Given the description of an element on the screen output the (x, y) to click on. 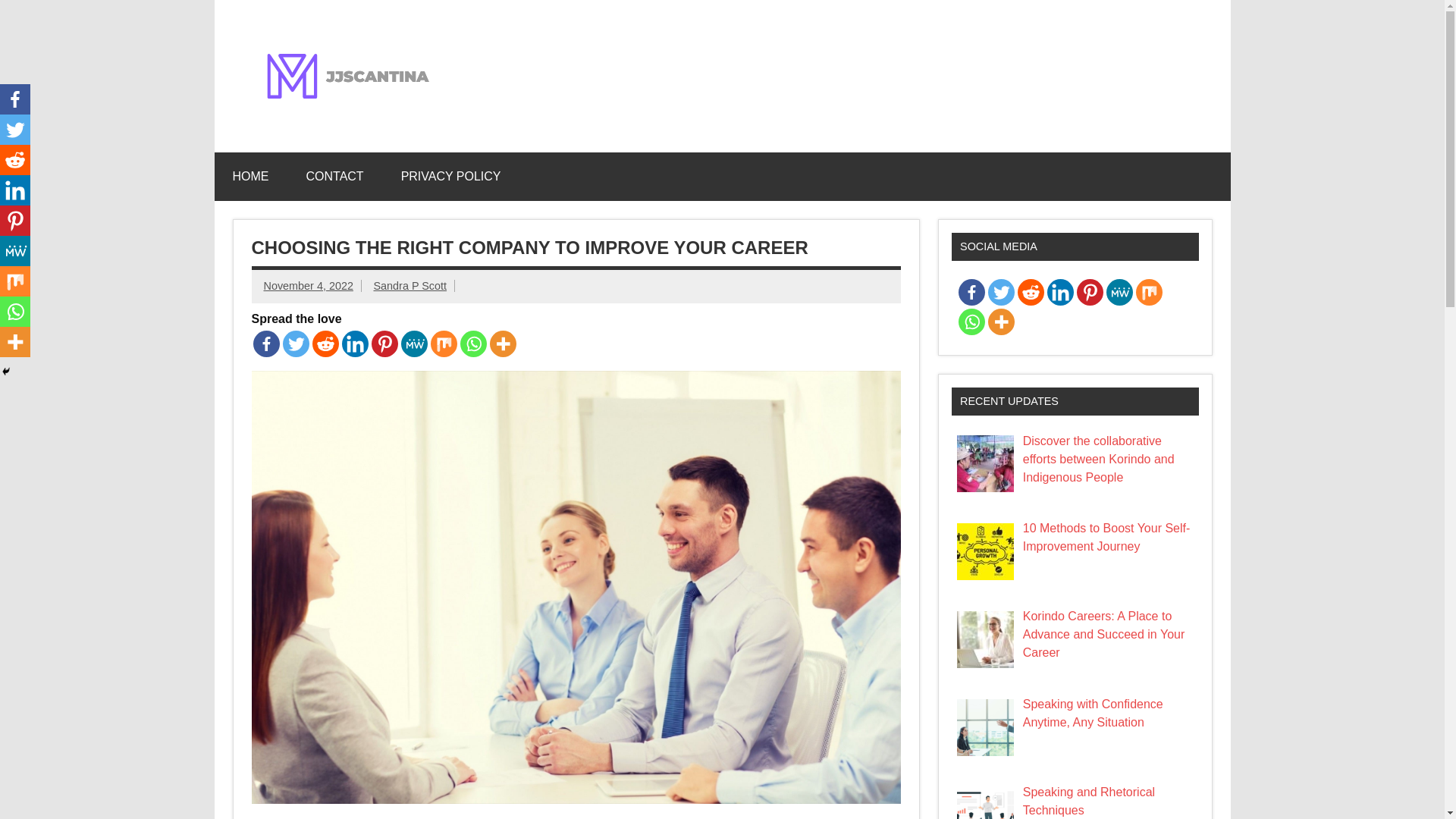
Whatsapp (473, 343)
Jjscantina.com (574, 51)
More (502, 343)
Facebook (266, 343)
Mix (443, 343)
CONTACT (334, 176)
HOME (250, 176)
Pinterest (384, 343)
PRIVACY POLICY (450, 176)
Linkedin (15, 190)
Twitter (15, 129)
Reddit (15, 159)
Pinterest (15, 220)
Sandra P Scott (409, 285)
9:55 pm (308, 285)
